Given the description of an element on the screen output the (x, y) to click on. 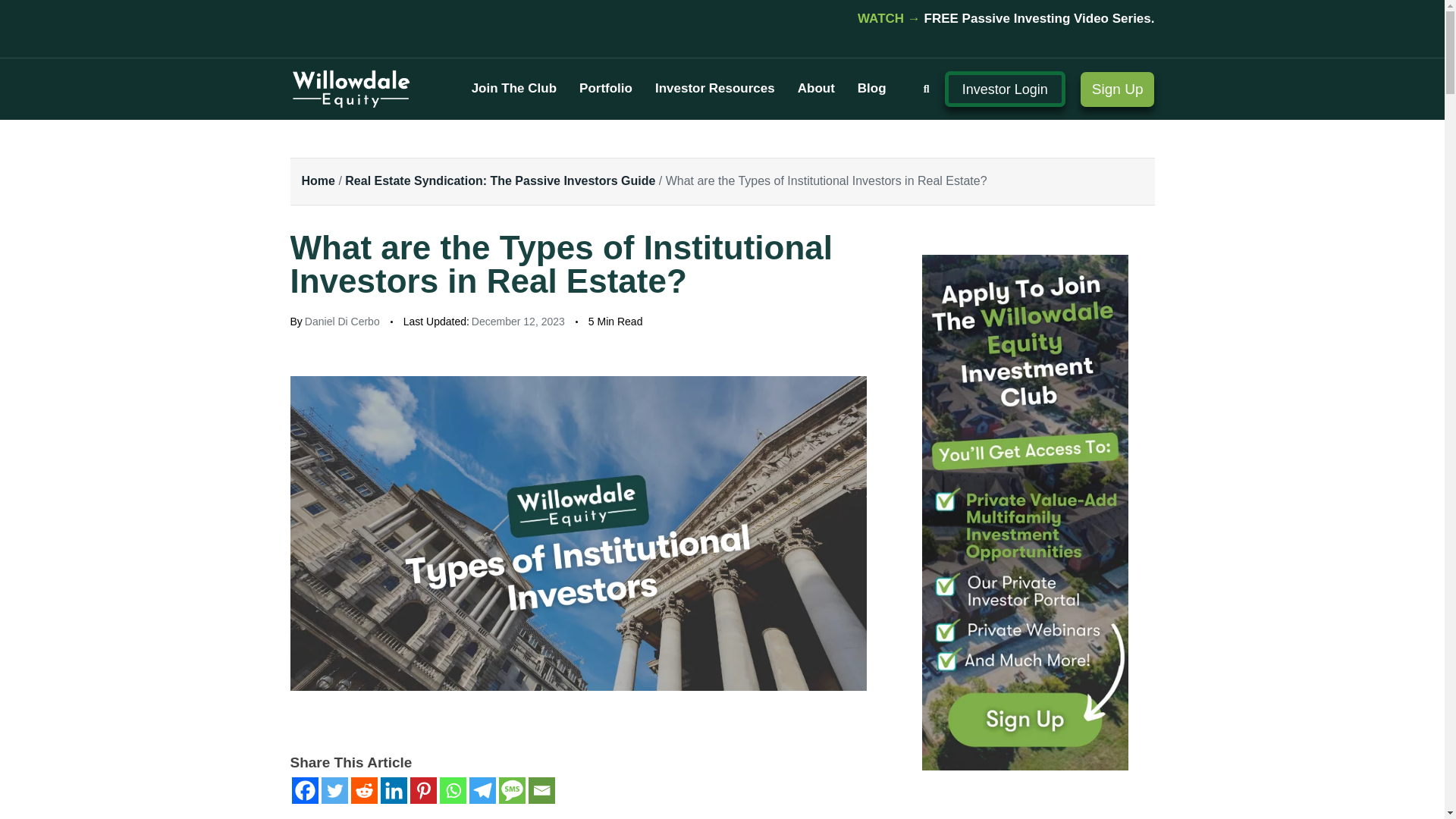
Go to Home. (317, 180)
Whatsapp (452, 790)
Facebook (304, 790)
Pinterest (422, 790)
Real Estate Syndication: The Passive Investors Guide (500, 180)
Reddit (363, 790)
Posts by Daniel Di Cerbo (342, 321)
Twitter (334, 790)
Email (540, 790)
December 12, 2023 (517, 321)
Investor Resources (714, 88)
Daniel Di Cerbo (342, 321)
Telegram (481, 790)
Portfolio (605, 88)
Home (317, 180)
